Given the description of an element on the screen output the (x, y) to click on. 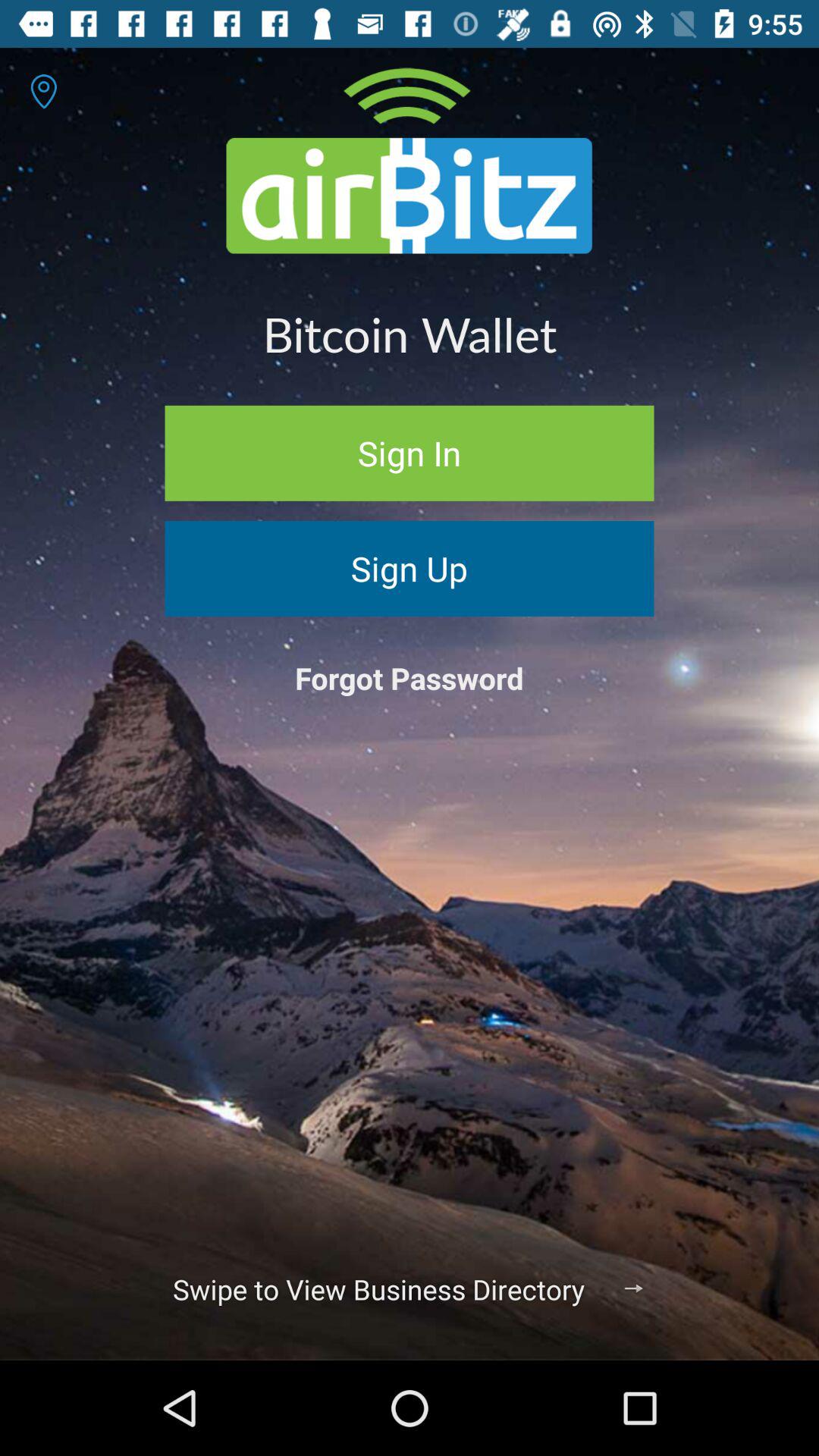
turn on item above the sign up (409, 453)
